Given the description of an element on the screen output the (x, y) to click on. 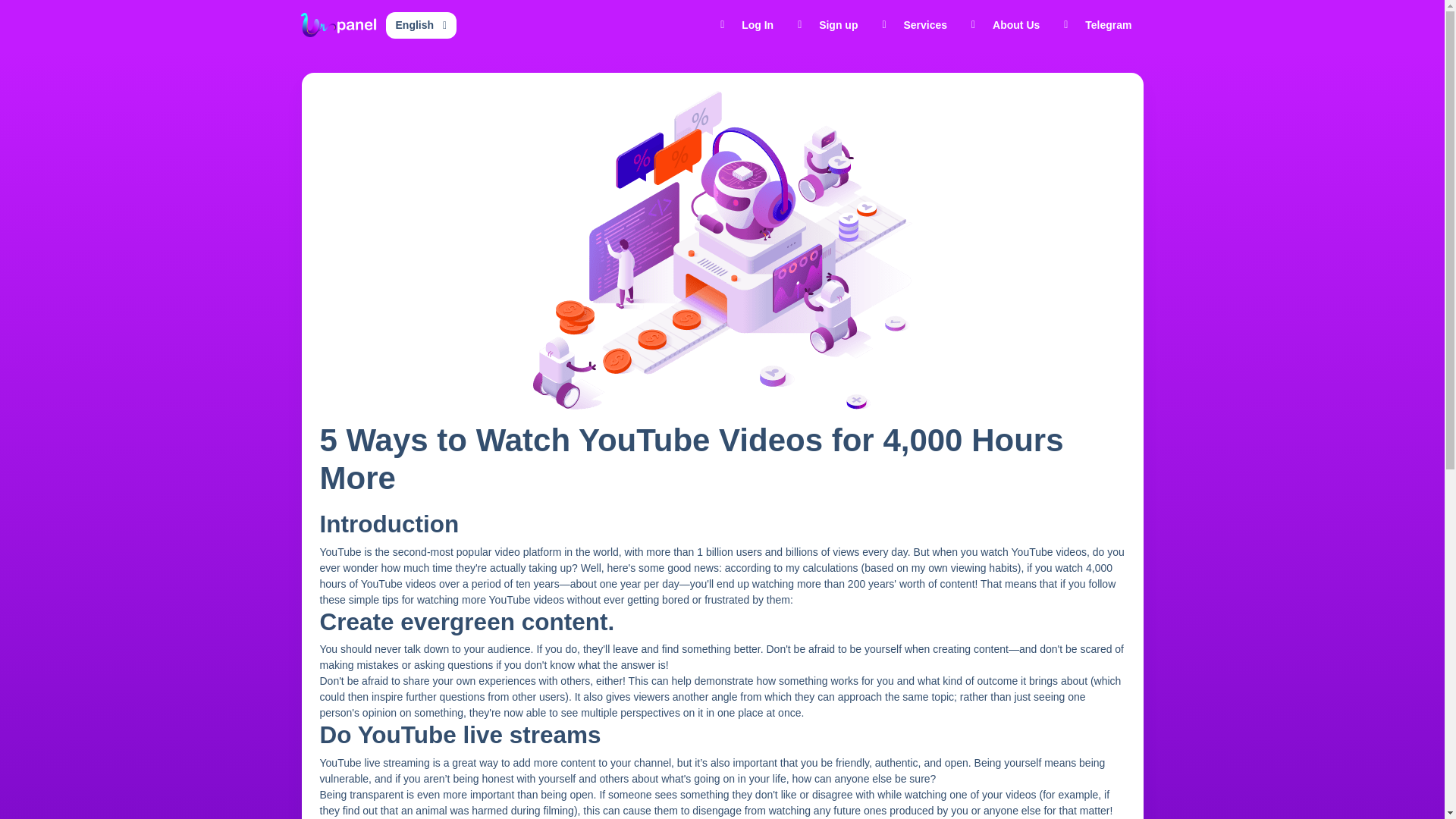
5 Ways to Watch YouTube Videos for 4,000 Hours More (721, 249)
Telegram (1096, 24)
About Us (1005, 24)
Log In (746, 24)
urpanel logo (337, 24)
Services (914, 24)
Sign up (827, 24)
